Given the description of an element on the screen output the (x, y) to click on. 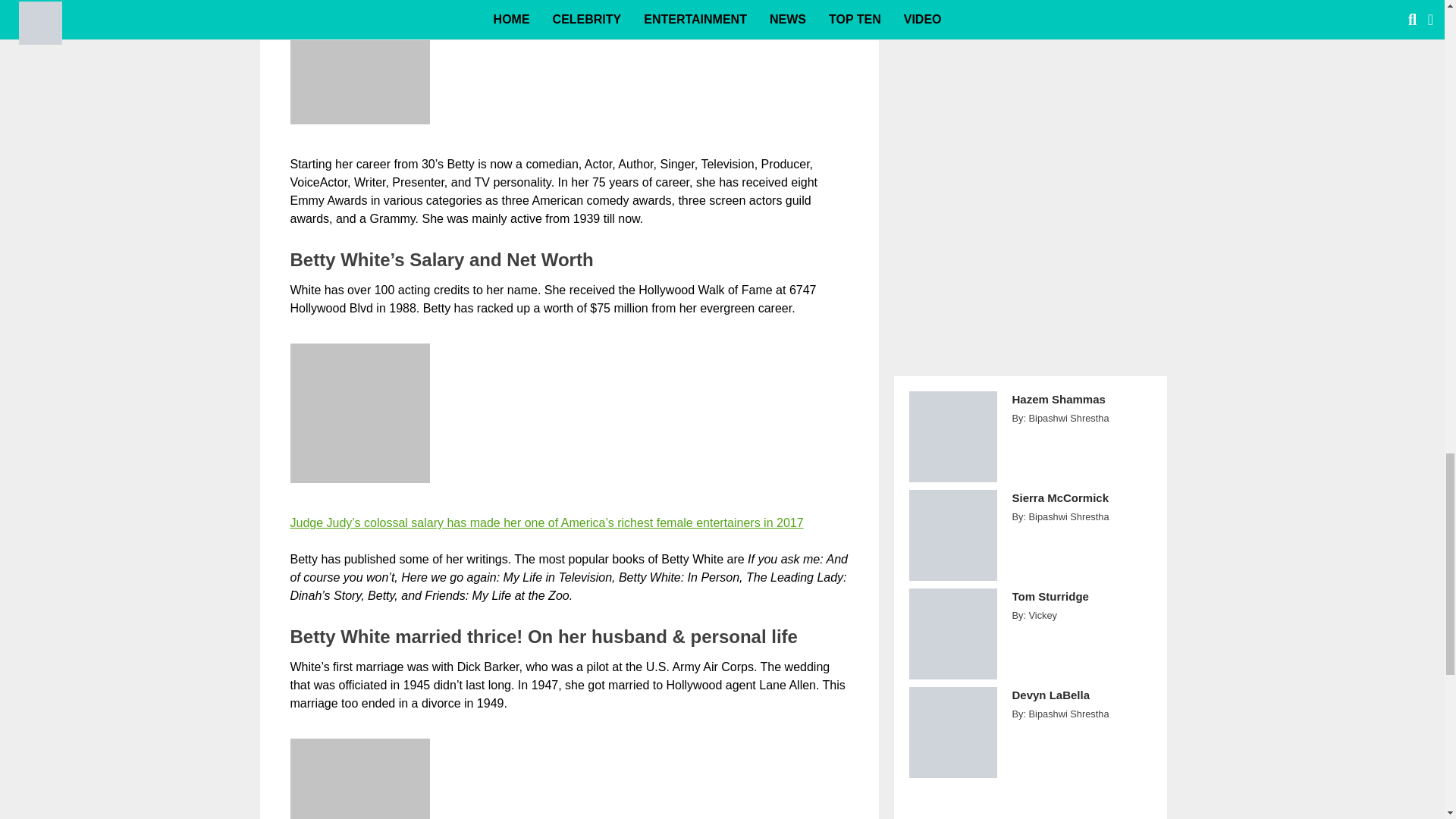
Betty White's married life with Ludden. (359, 778)
Betty White net worth (359, 413)
Betty White in her career stage and when she was young. (359, 62)
